Given the description of an element on the screen output the (x, y) to click on. 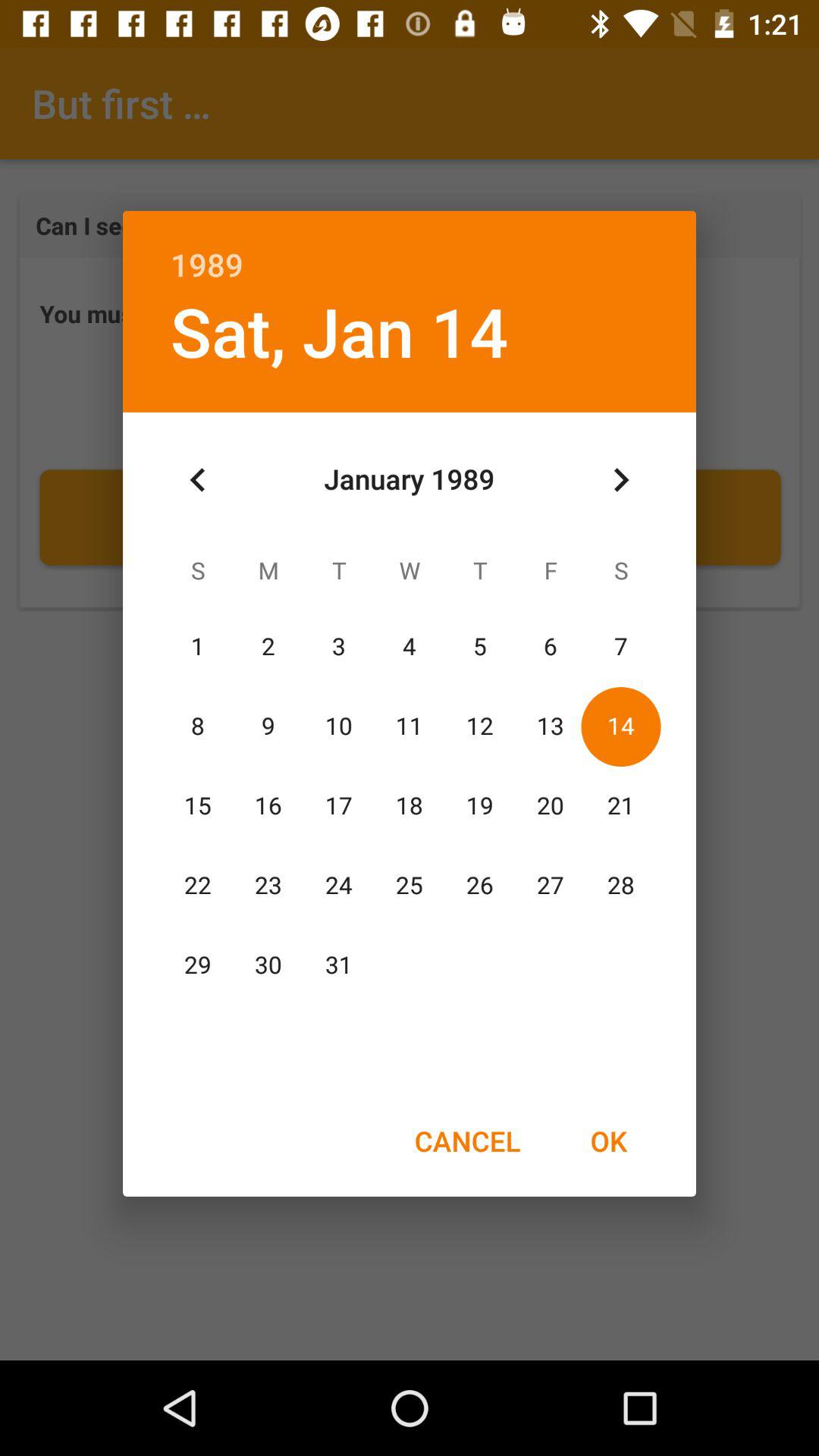
select the icon above ok (620, 479)
